Given the description of an element on the screen output the (x, y) to click on. 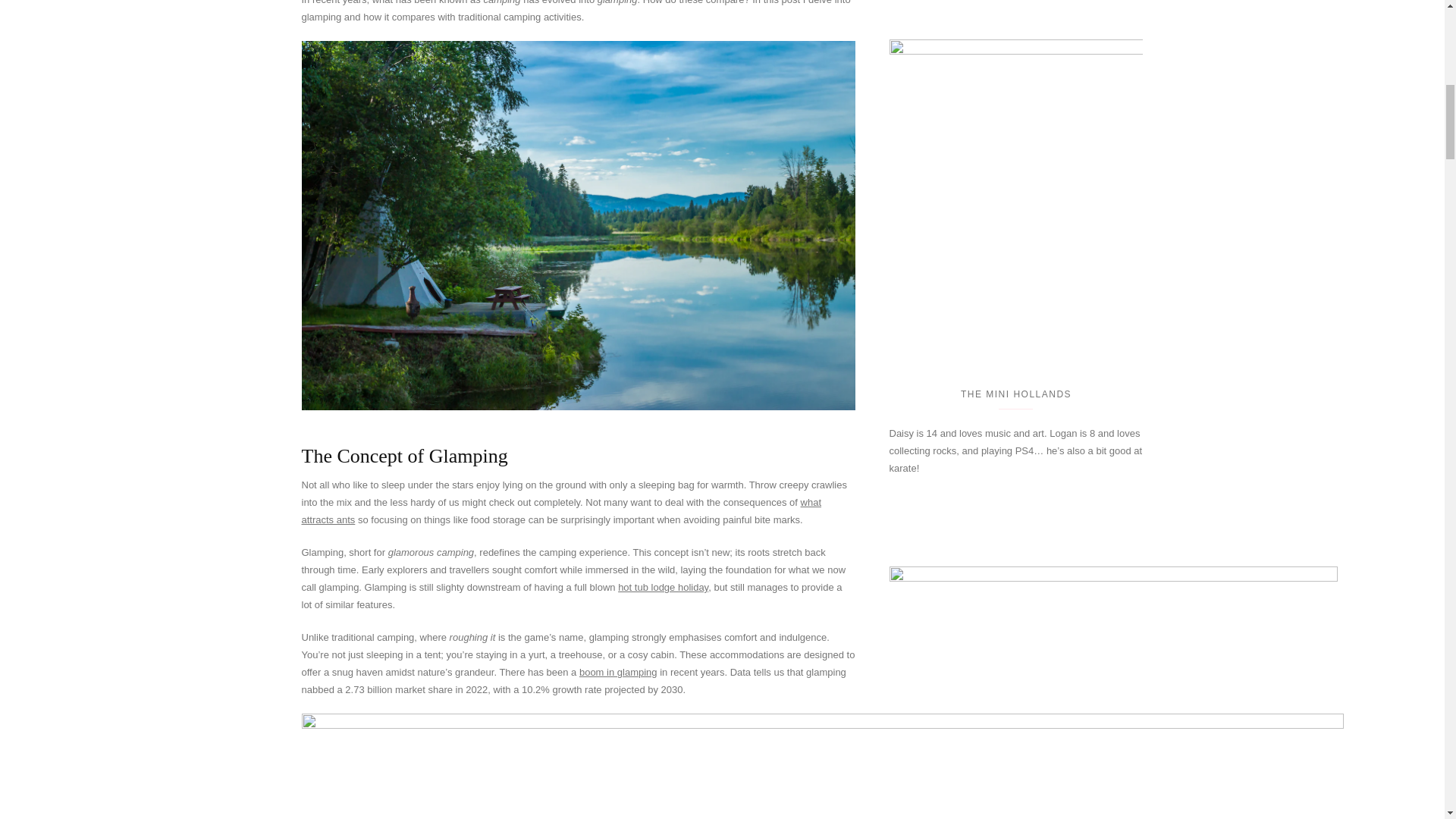
what attracts ants (561, 510)
boom in glamping (618, 672)
hot tub lodge holiday (662, 586)
